Given the description of an element on the screen output the (x, y) to click on. 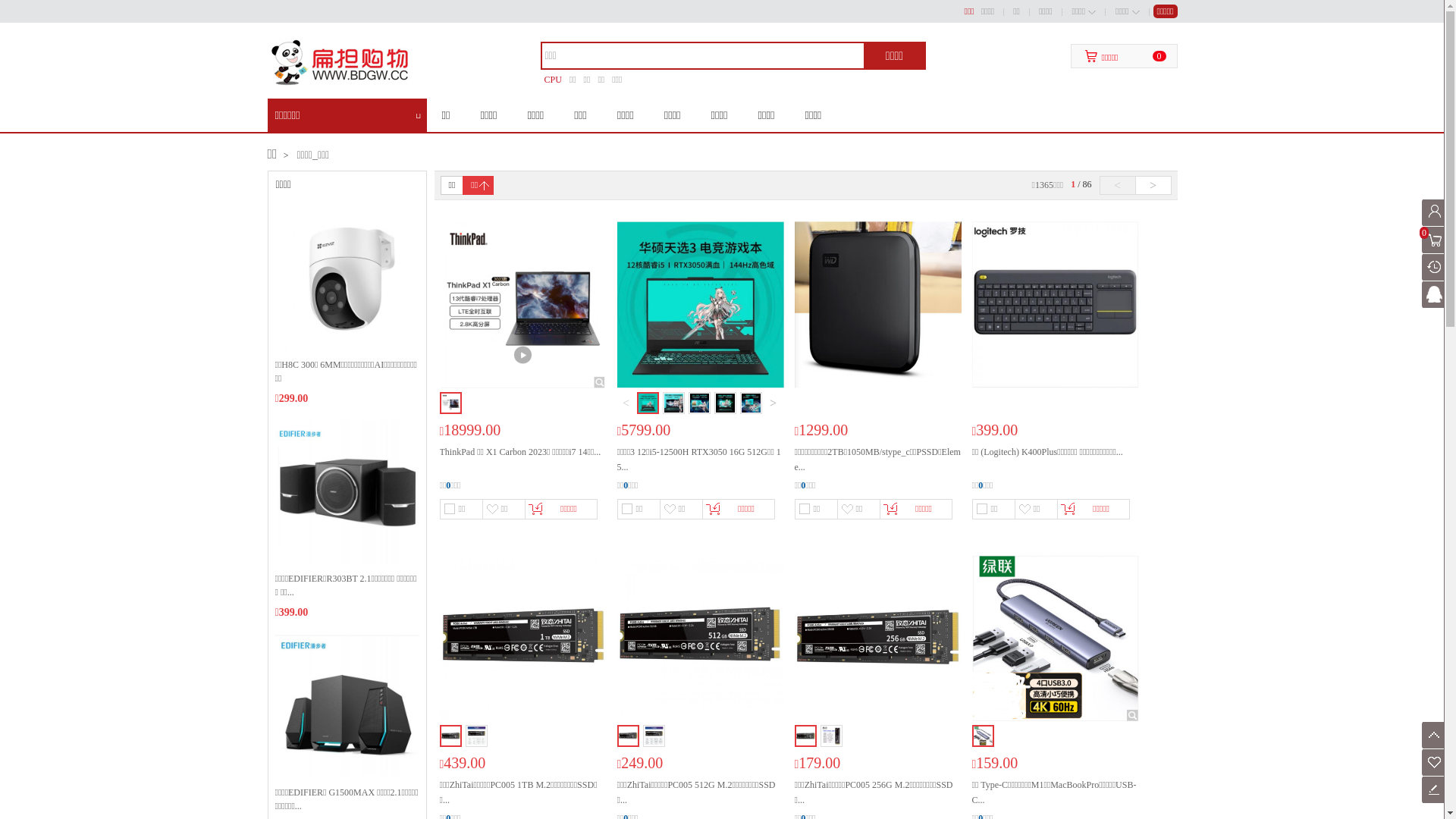
0 Element type: text (980, 485)
0 Element type: text (625, 485)
0 Element type: text (1434, 239)
> Element type: text (1152, 184)
0 Element type: text (802, 485)
< Element type: text (1117, 184)
CPU Element type: text (552, 79)
0 Element type: text (447, 485)
